Given the description of an element on the screen output the (x, y) to click on. 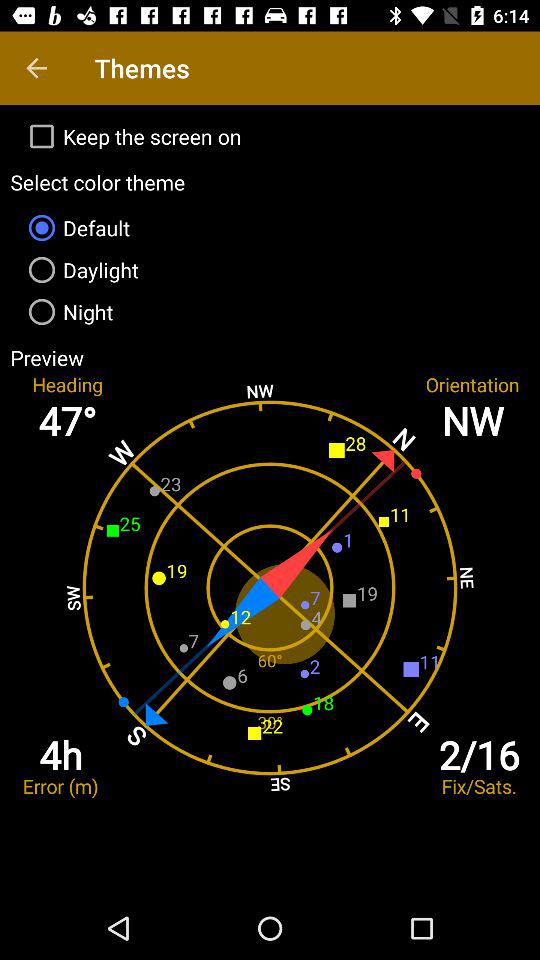
click the icon below daylight icon (270, 311)
